Given the description of an element on the screen output the (x, y) to click on. 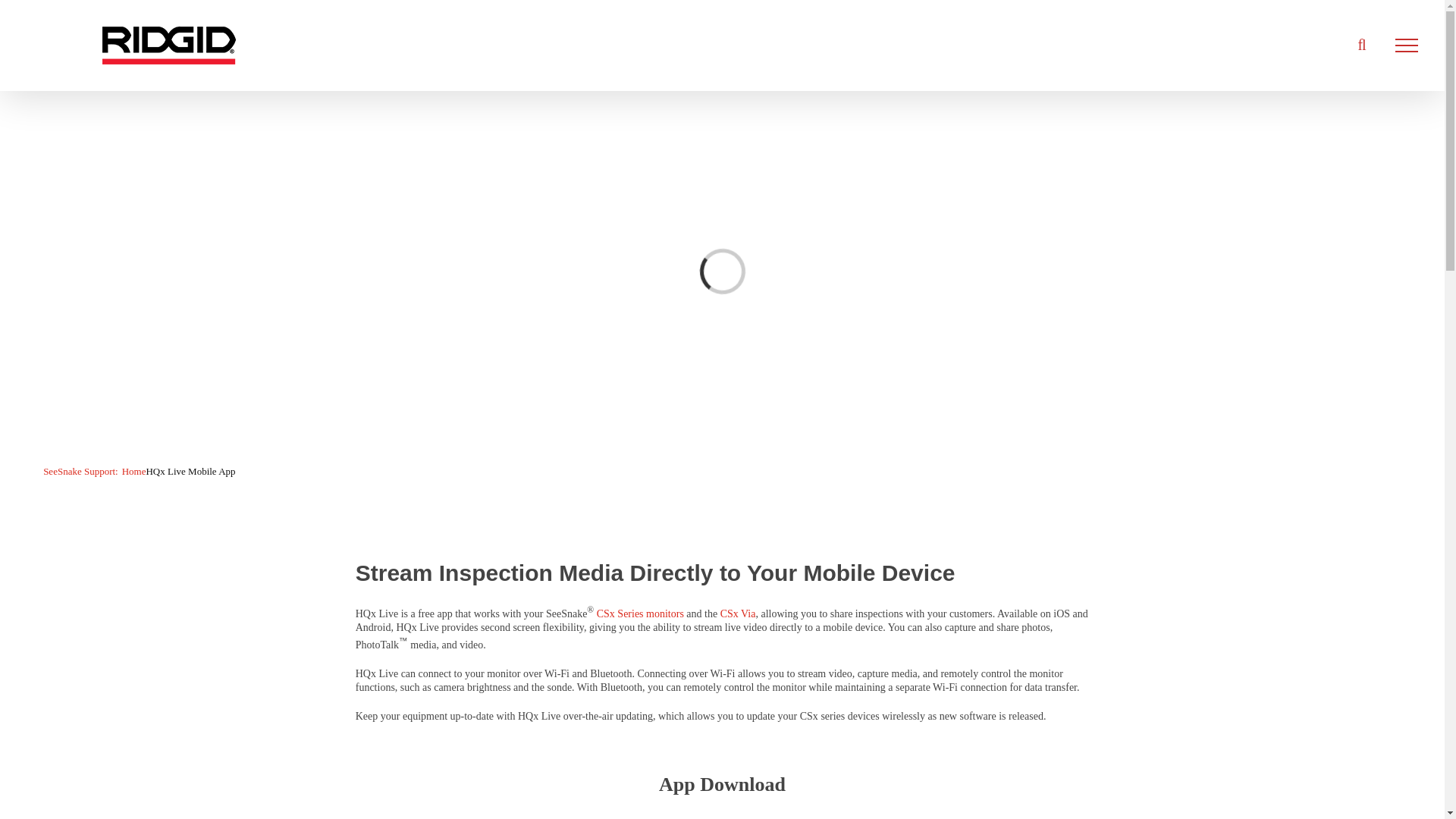
monitors (663, 613)
Home (134, 471)
CSx Series (619, 613)
CSx Via (737, 613)
